Given the description of an element on the screen output the (x, y) to click on. 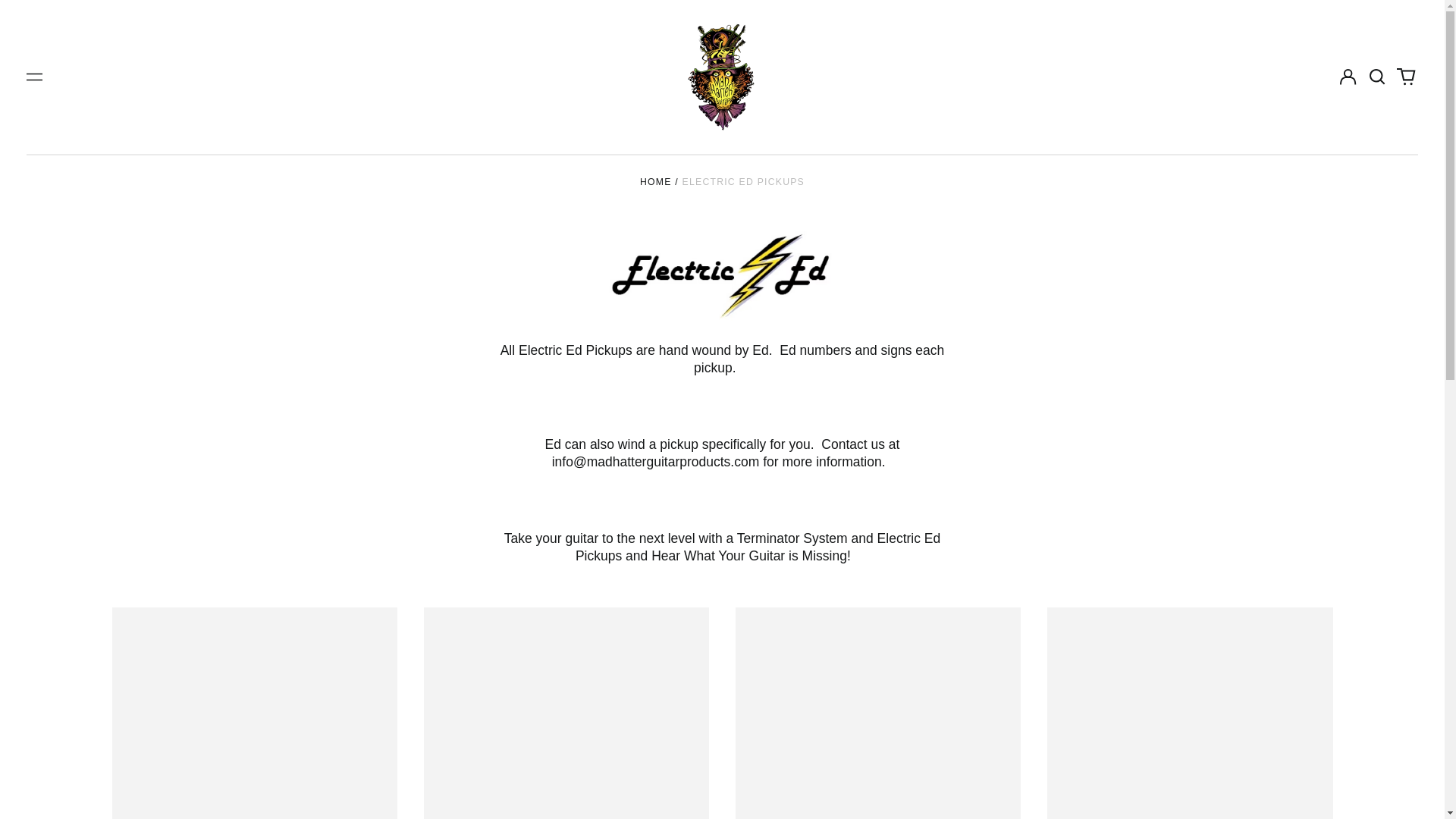
Home (655, 181)
